Given the description of an element on the screen output the (x, y) to click on. 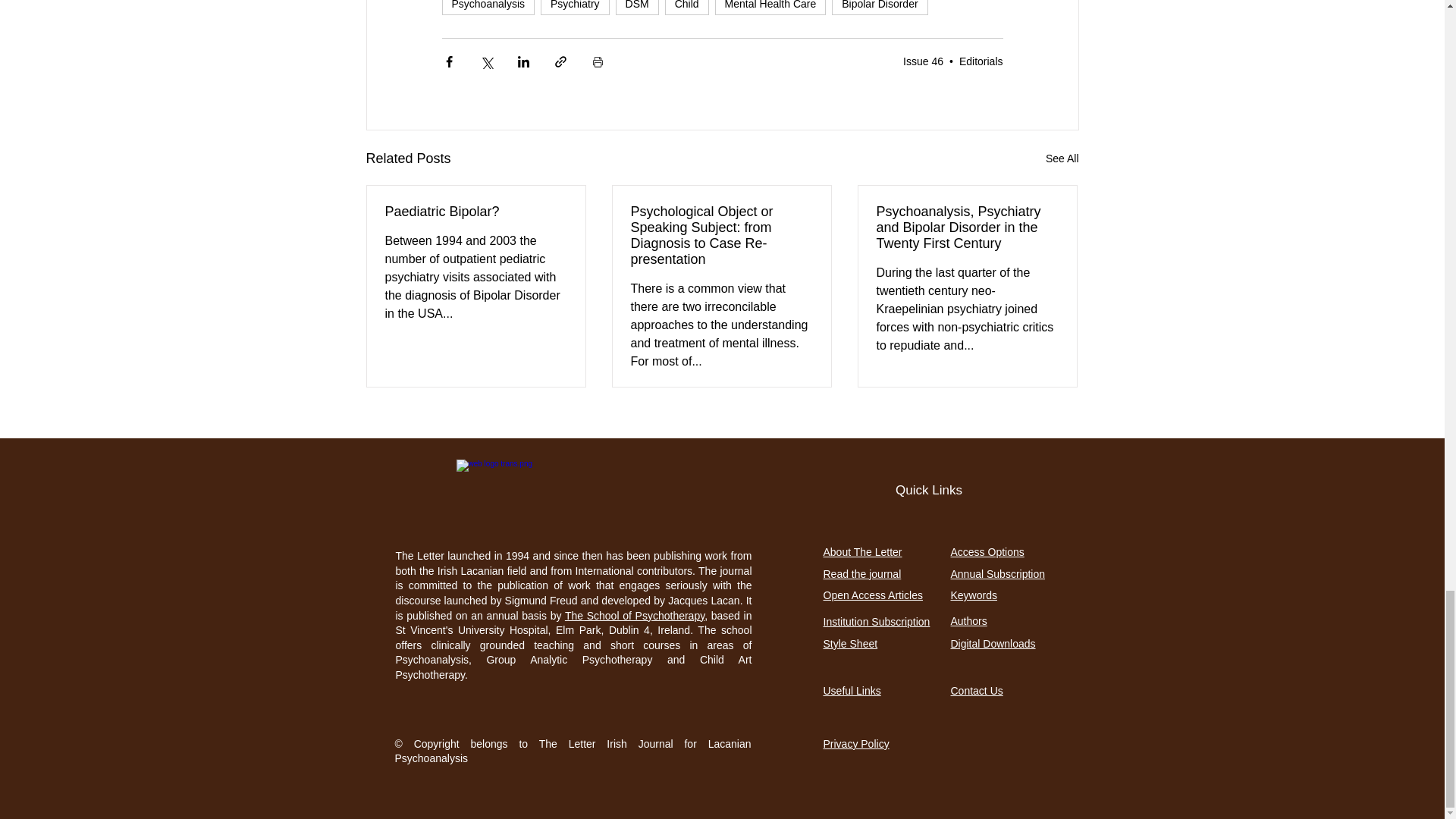
Psychiatry (575, 7)
Child (687, 7)
Psychoanalysis (487, 7)
Issue 46 (922, 61)
DSM (637, 7)
Bipolar Disorder (879, 7)
Mental Health Care (770, 7)
See All (1061, 158)
Editorials (981, 61)
